Given the description of an element on the screen output the (x, y) to click on. 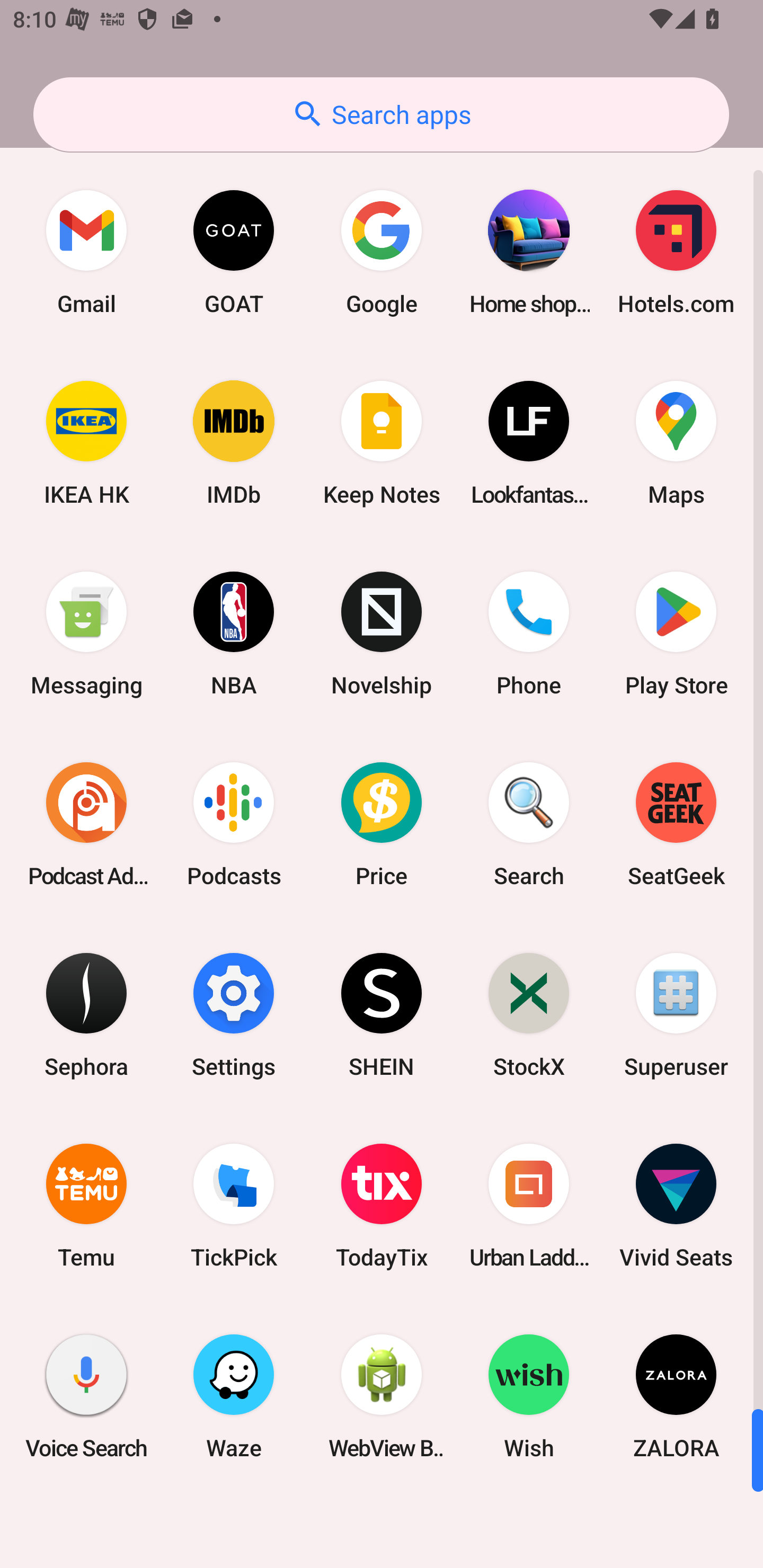
  Search apps (381, 114)
Gmail (86, 252)
GOAT (233, 252)
Google (381, 252)
Home shopping (528, 252)
Hotels.com (676, 252)
IKEA HK (86, 442)
IMDb (233, 442)
Keep Notes (381, 442)
Lookfantastic (528, 442)
Maps (676, 442)
Messaging (86, 633)
NBA (233, 633)
Novelship (381, 633)
Phone (528, 633)
Play Store (676, 633)
Podcast Addict (86, 823)
Podcasts (233, 823)
Price (381, 823)
Search (528, 823)
SeatGeek (676, 823)
Sephora (86, 1014)
Settings (233, 1014)
SHEIN (381, 1014)
StockX (528, 1014)
Superuser (676, 1014)
Temu (86, 1205)
TickPick (233, 1205)
TodayTix (381, 1205)
Urban Ladder (528, 1205)
Vivid Seats (676, 1205)
Voice Search (86, 1396)
Waze (233, 1396)
WebView Browser Tester (381, 1396)
Wish (528, 1396)
ZALORA (676, 1396)
